Given the description of an element on the screen output the (x, y) to click on. 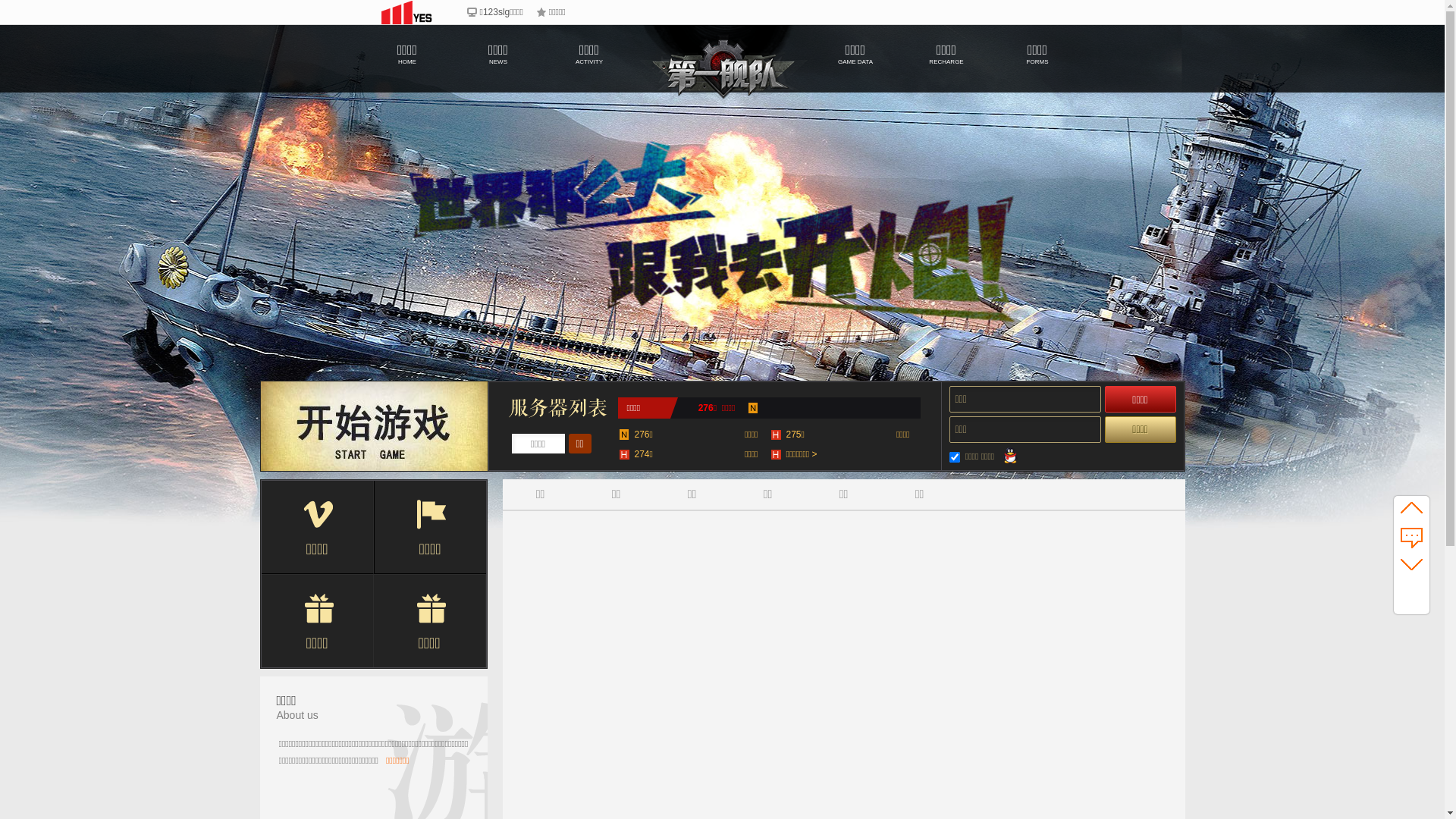
  Element type: text (487, 484)
